Given the description of an element on the screen output the (x, y) to click on. 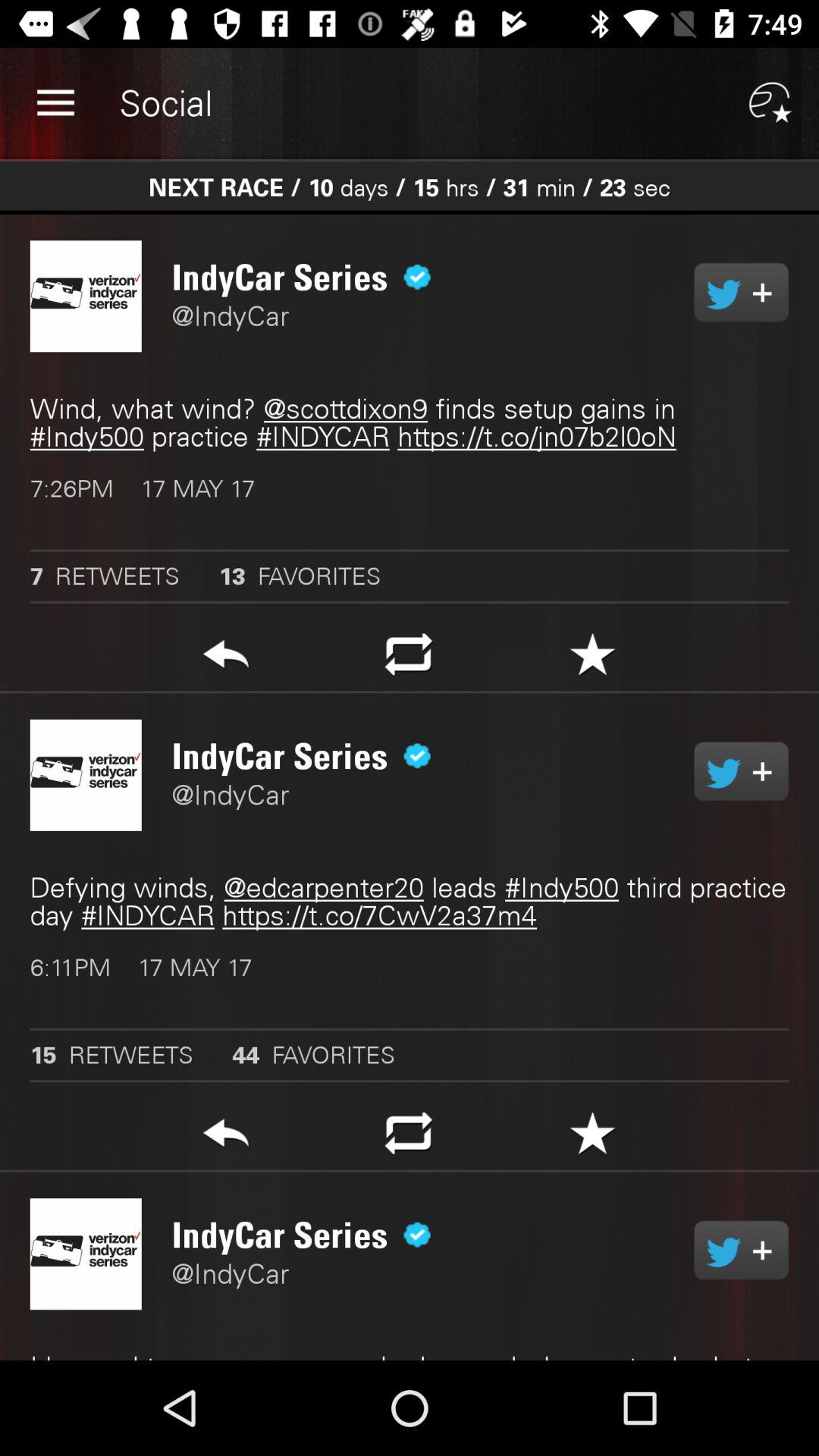
retweet (740, 1249)
